Given the description of an element on the screen output the (x, y) to click on. 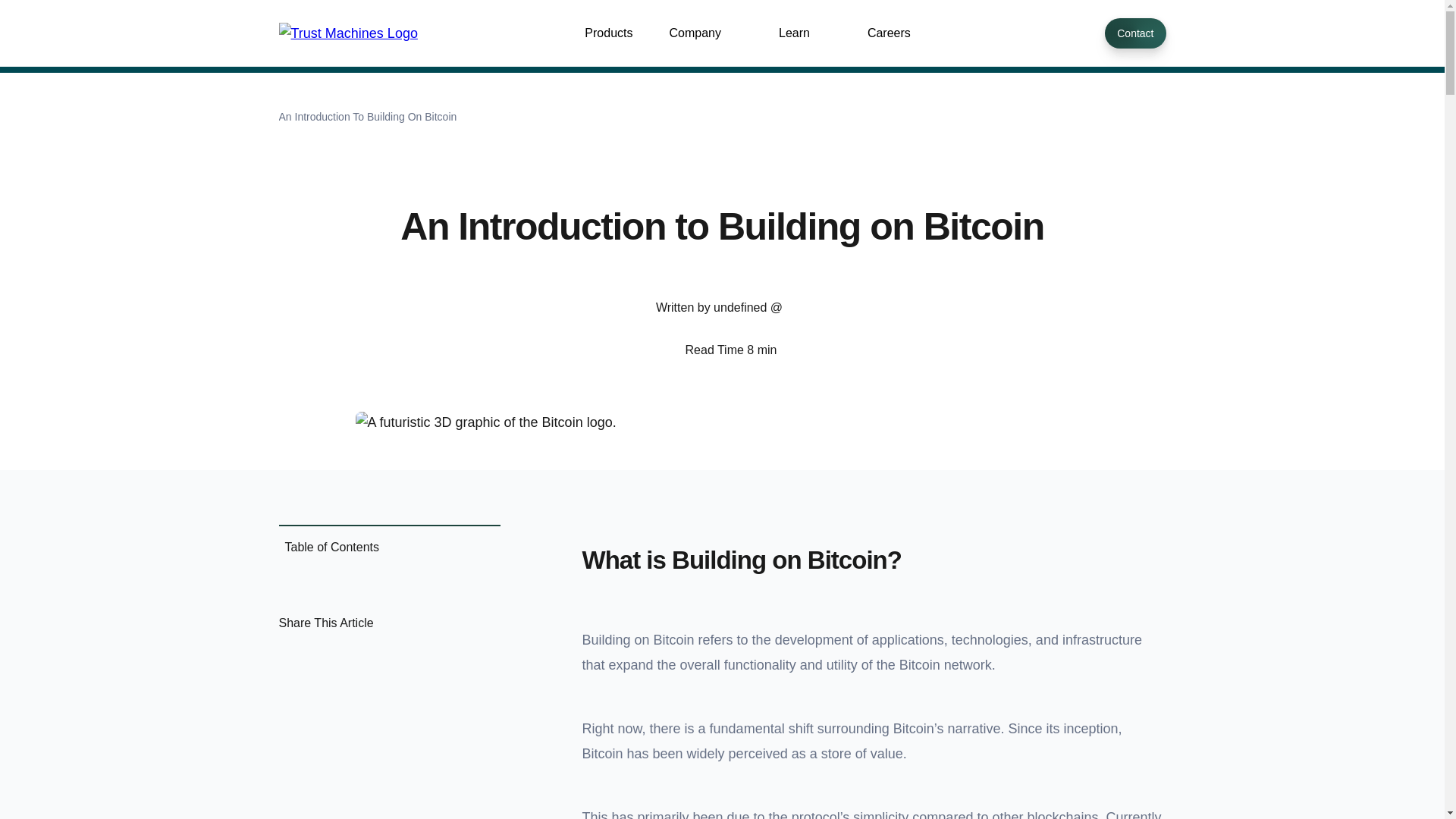
Careers (889, 33)
Trust Machines Logo (348, 33)
Contact (1135, 33)
An Introduction To Building On Bitcoin (368, 116)
A futuristic 3D graphic of the Bitcoin logo. (722, 422)
Products (608, 33)
